Given the description of an element on the screen output the (x, y) to click on. 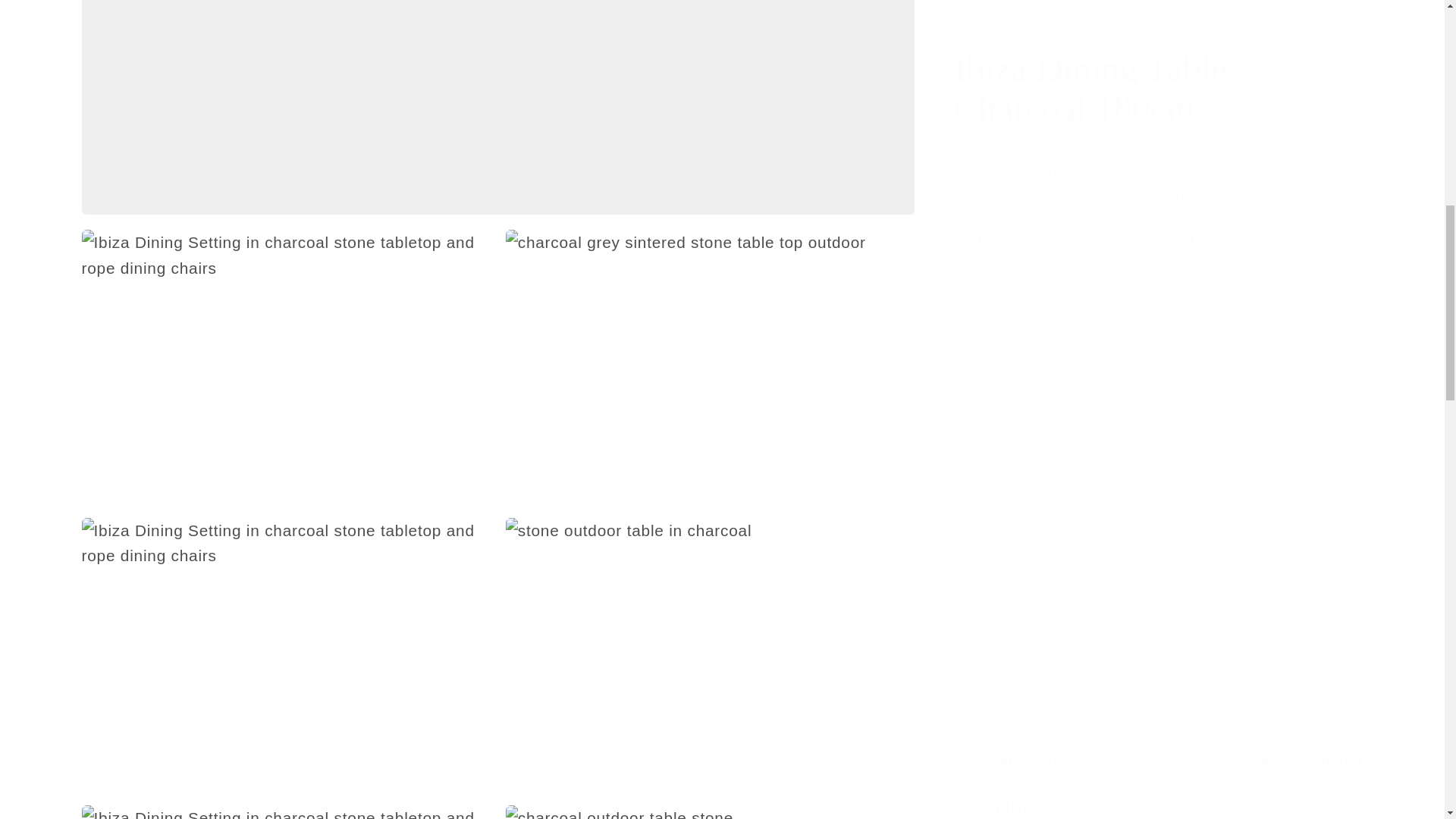
Open media 4 in modal (285, 634)
Open media 7 in modal (709, 802)
Open media 6 in modal (285, 802)
Open media 3 in modal (709, 346)
Open media 2 in modal (285, 346)
Open media 5 in modal (709, 634)
